Given the description of an element on the screen output the (x, y) to click on. 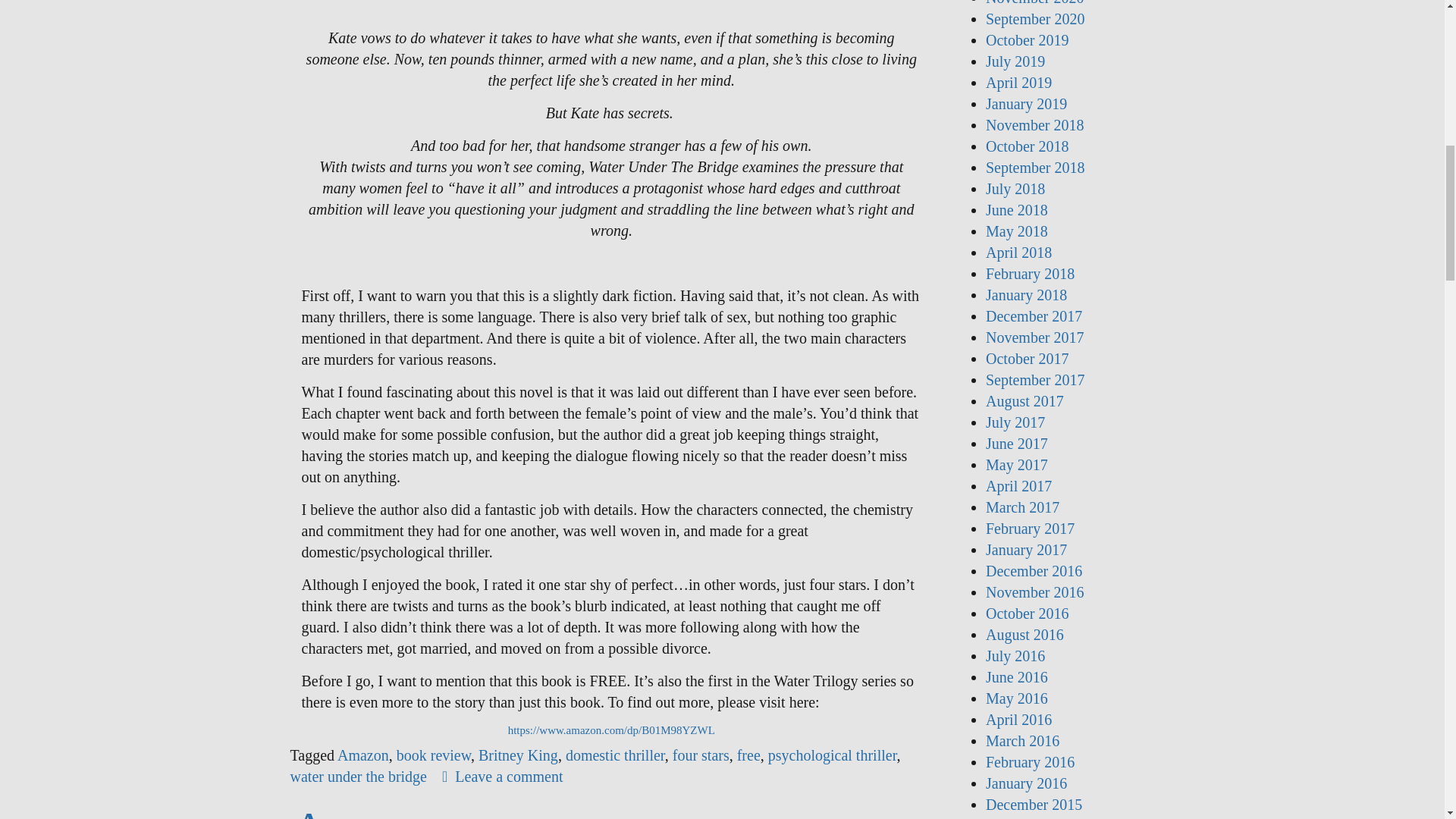
Britney King (518, 754)
domestic thriller (615, 754)
free (748, 754)
four stars (700, 754)
psychological thriller (832, 754)
Amazon (362, 754)
book review (433, 754)
Leave a comment (502, 776)
water under the bridge (357, 776)
